Given the description of an element on the screen output the (x, y) to click on. 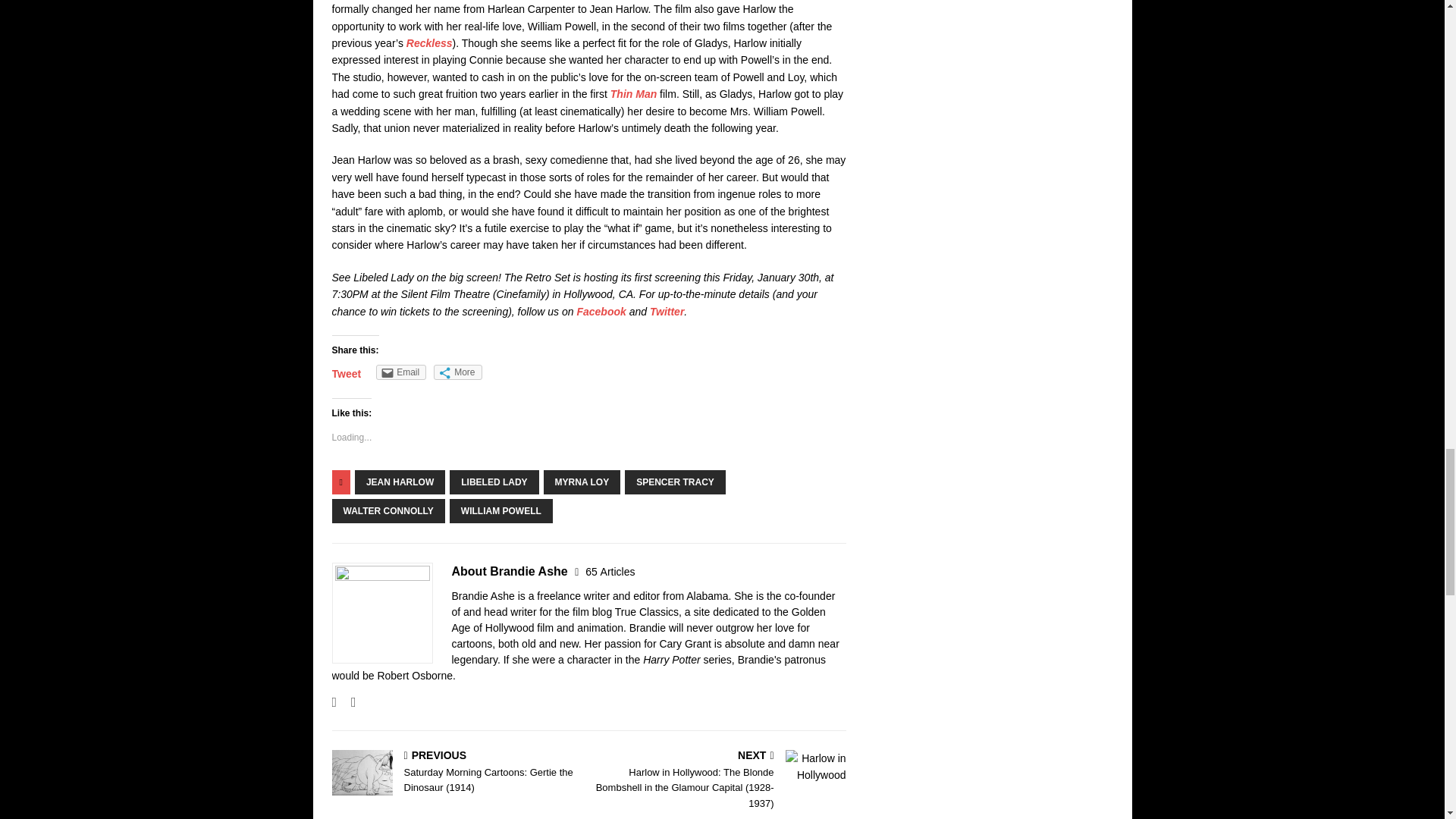
More articles written by Brandie Ashe' (609, 571)
Click to email this to a friend (400, 372)
Follow Brandie Ashe on Twitter (347, 702)
